Given the description of an element on the screen output the (x, y) to click on. 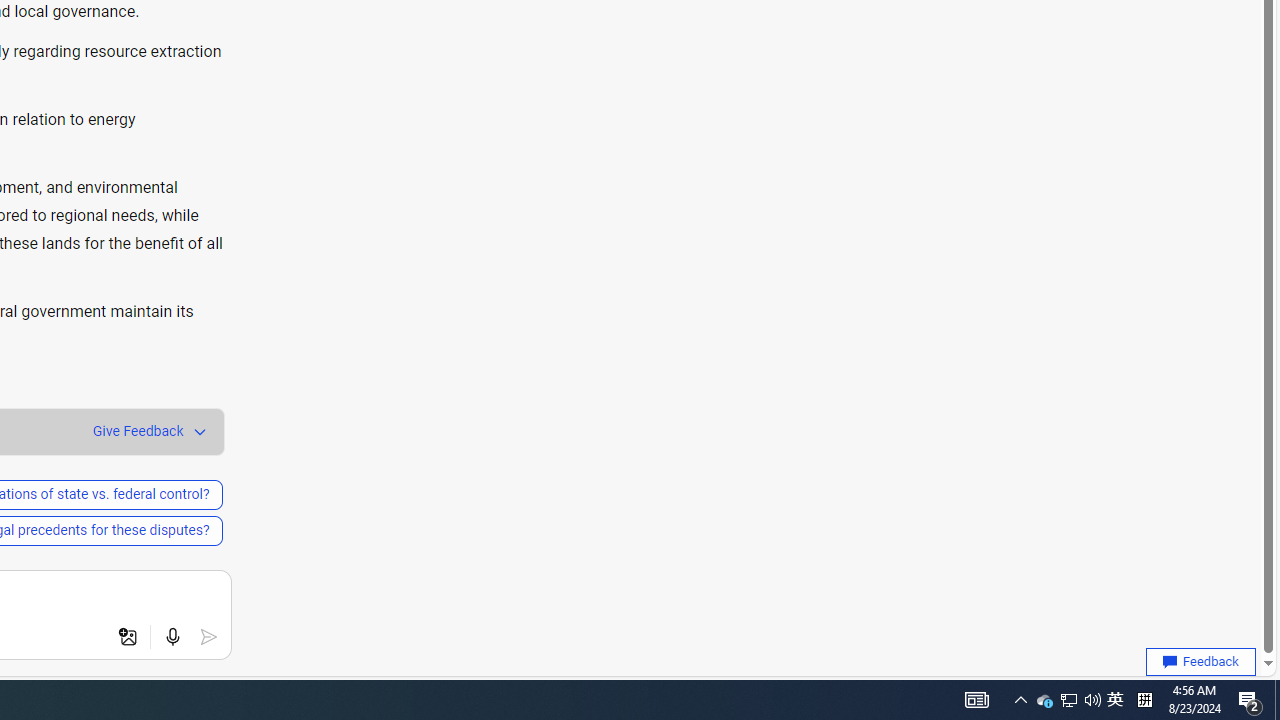
Add an image to search (127, 637)
Use microphone (172, 637)
Submit (208, 637)
